Given the description of an element on the screen output the (x, y) to click on. 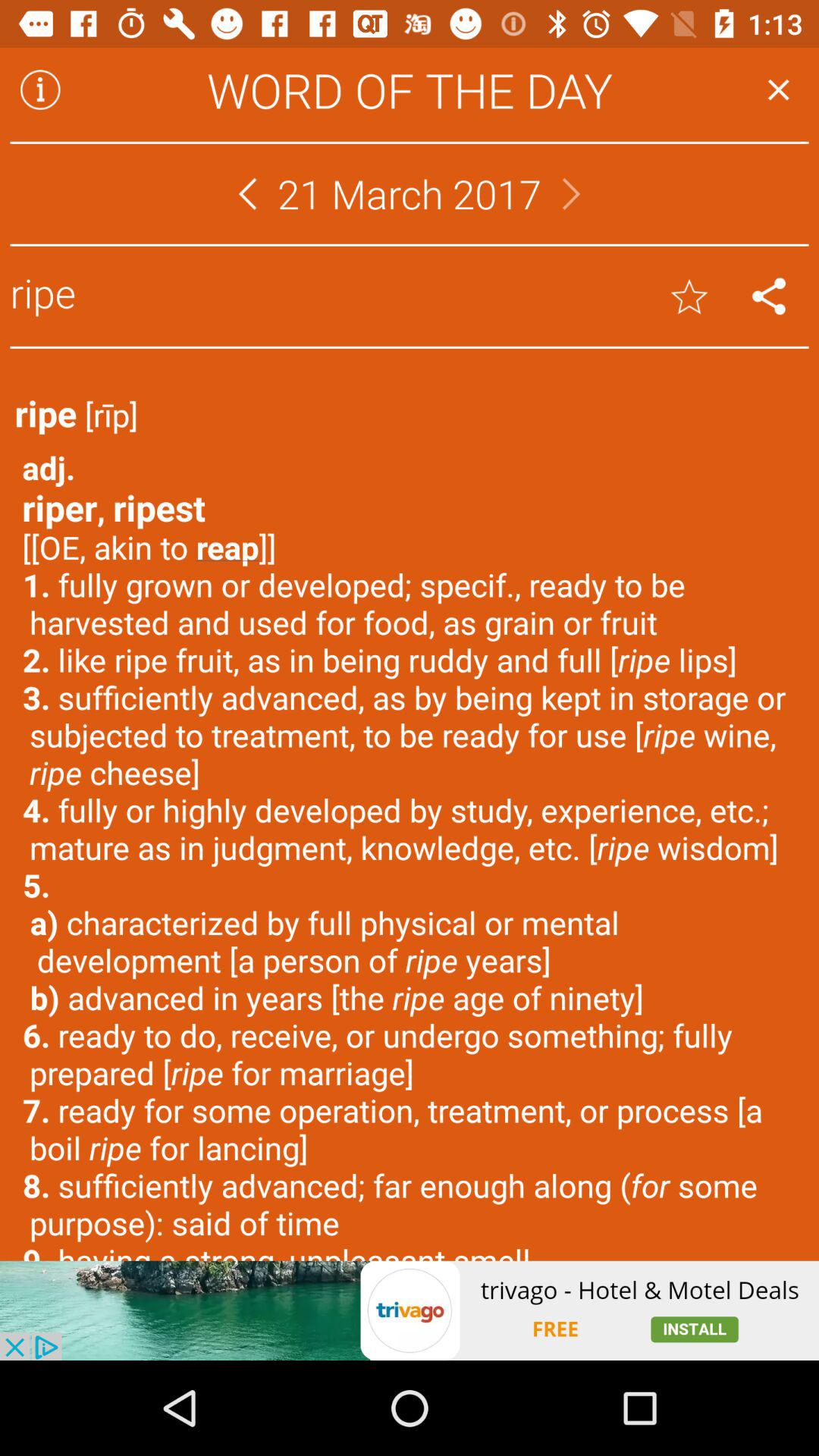
go to next user (571, 193)
